Given the description of an element on the screen output the (x, y) to click on. 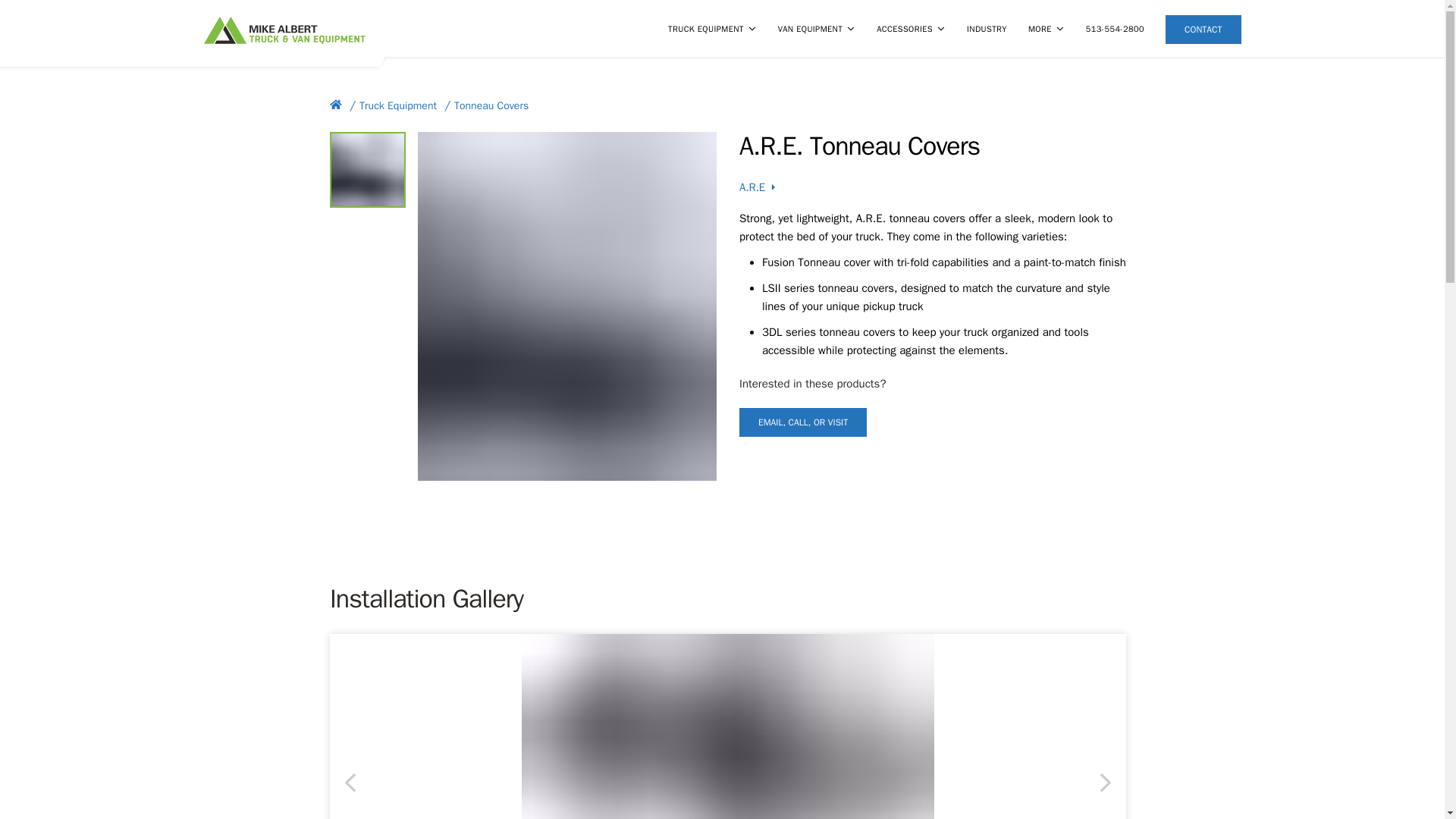
CONTACT (1203, 29)
Tonneau Covers (491, 105)
EMAIL, CALL, OR VISIT (802, 421)
A.R.E (758, 187)
INDUSTRY (986, 29)
513-554-2800 (1115, 29)
Truck Equipment (397, 105)
